Given the description of an element on the screen output the (x, y) to click on. 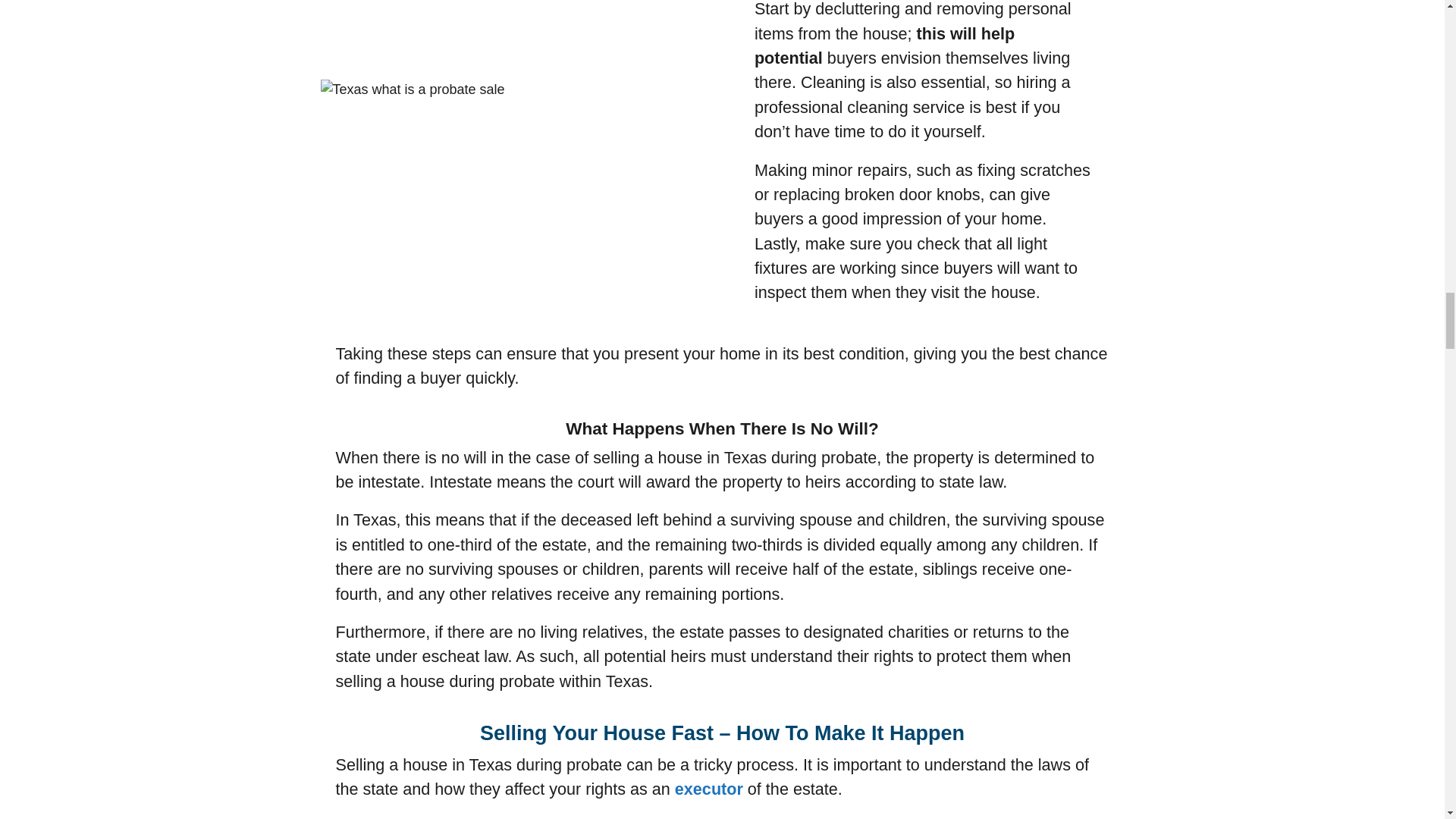
executor (708, 788)
